Given the description of an element on the screen output the (x, y) to click on. 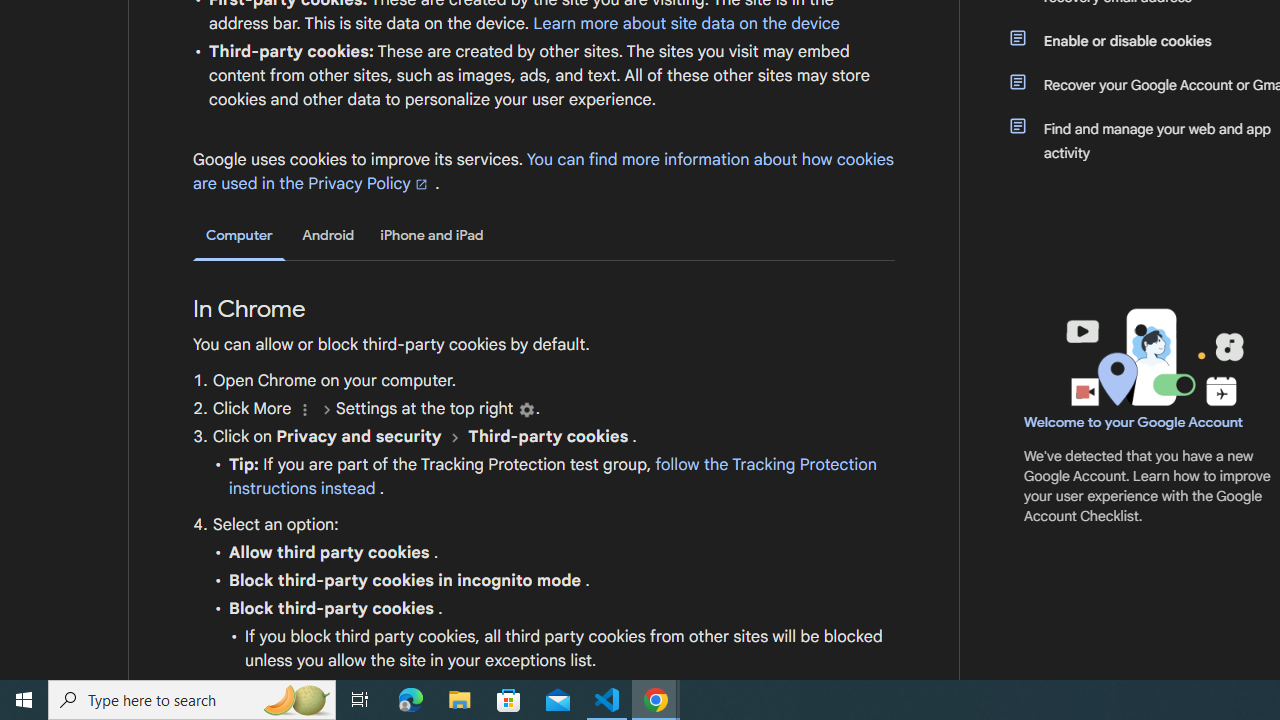
Institutions (526, 409)
and then (454, 437)
Computer (239, 235)
Learning Center home page image (1152, 357)
Android (328, 235)
Welcome to your Google Account (1134, 422)
follow the Tracking Protection instructions instead (552, 476)
iPhone and iPad (431, 235)
Learn more about site data on the device (686, 23)
More (303, 409)
